Given the description of an element on the screen output the (x, y) to click on. 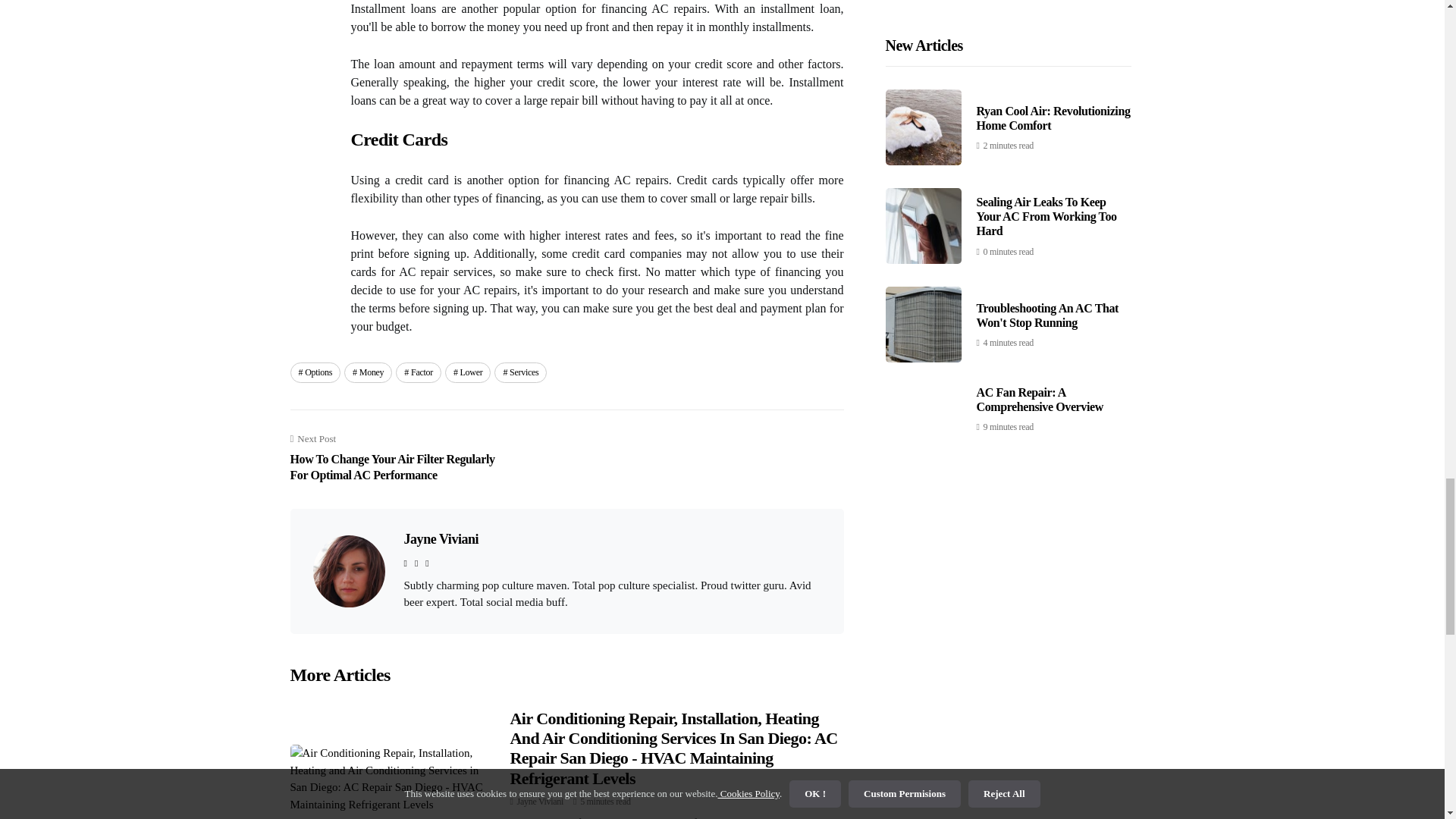
Posts by Jayne Viviani (539, 801)
